Given the description of an element on the screen output the (x, y) to click on. 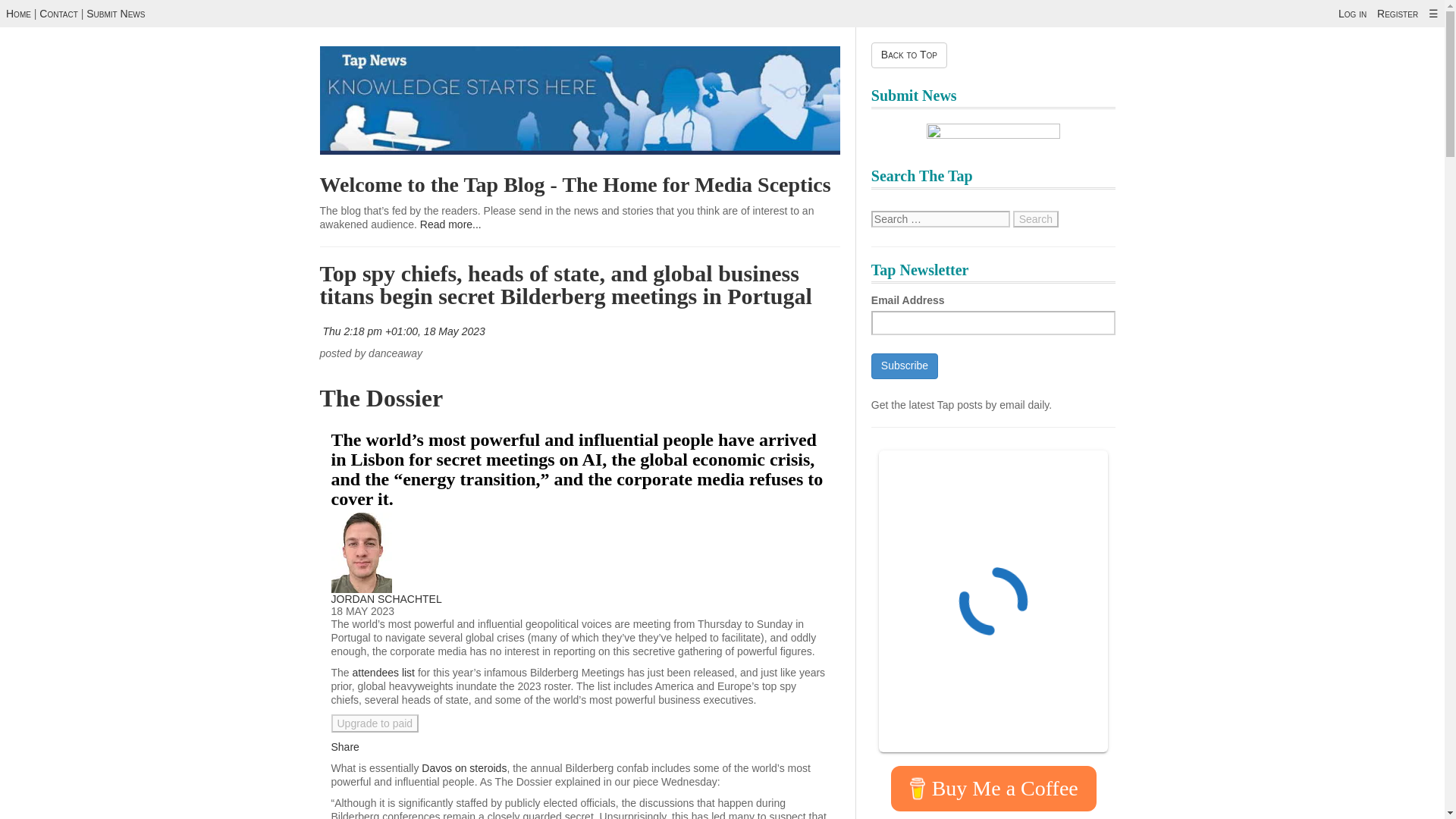
Share (344, 746)
JORDAN SCHACHTEL (385, 598)
Contact Us (58, 13)
Search (1035, 218)
The Dossier (382, 397)
Back to Top (908, 54)
Register (1397, 13)
Welcome to the Tap Blog - The Home for Media Sceptics (575, 184)
Permanent Link to Welcome to The Tap Blog (575, 184)
Home (17, 13)
